Given the description of an element on the screen output the (x, y) to click on. 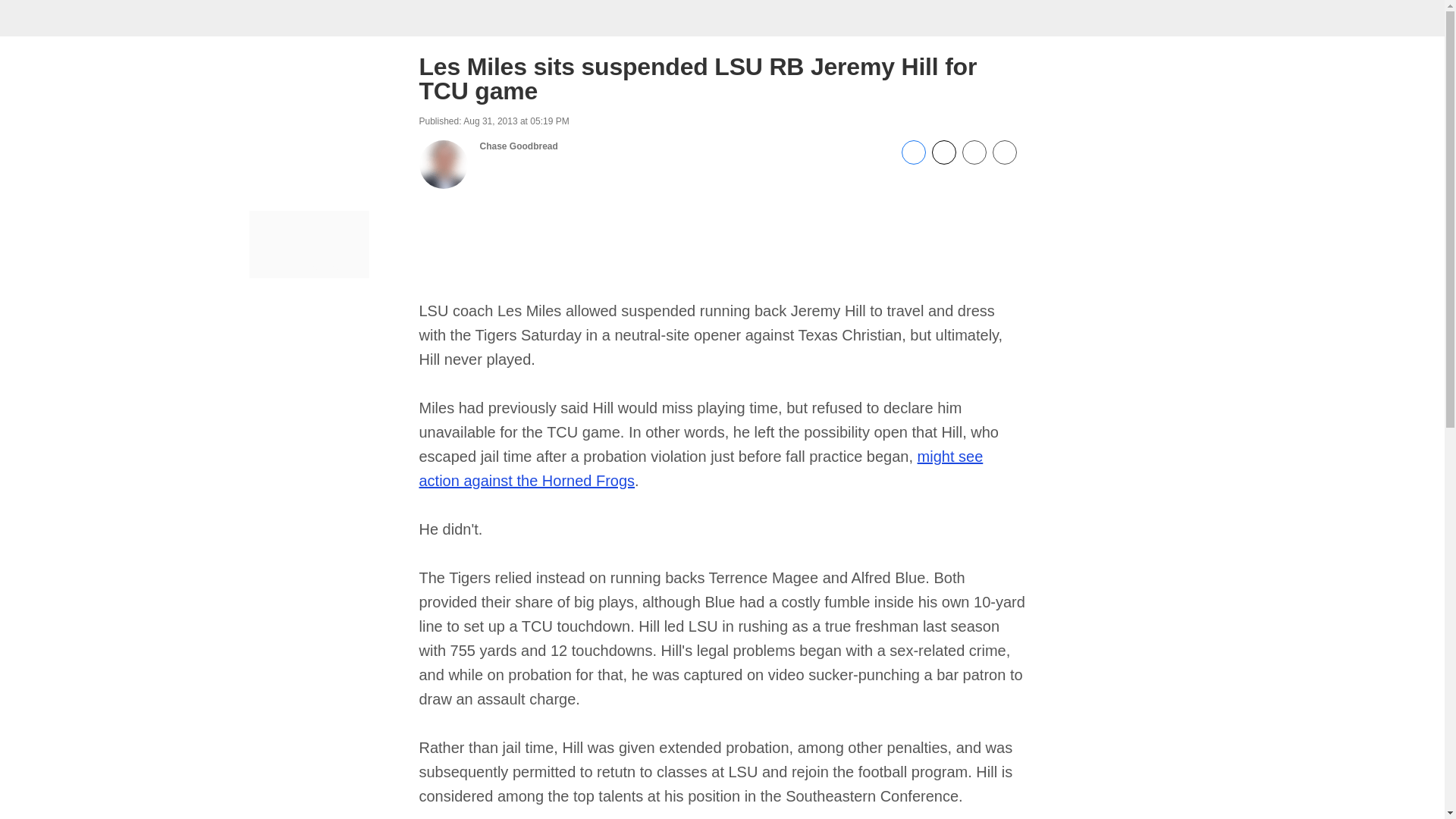
Send email (972, 160)
Share on Twitter (943, 160)
miles (700, 467)
Copy link (1003, 153)
might see action against the Horned Frogs (700, 467)
Share on Facebook (912, 160)
